Given the description of an element on the screen output the (x, y) to click on. 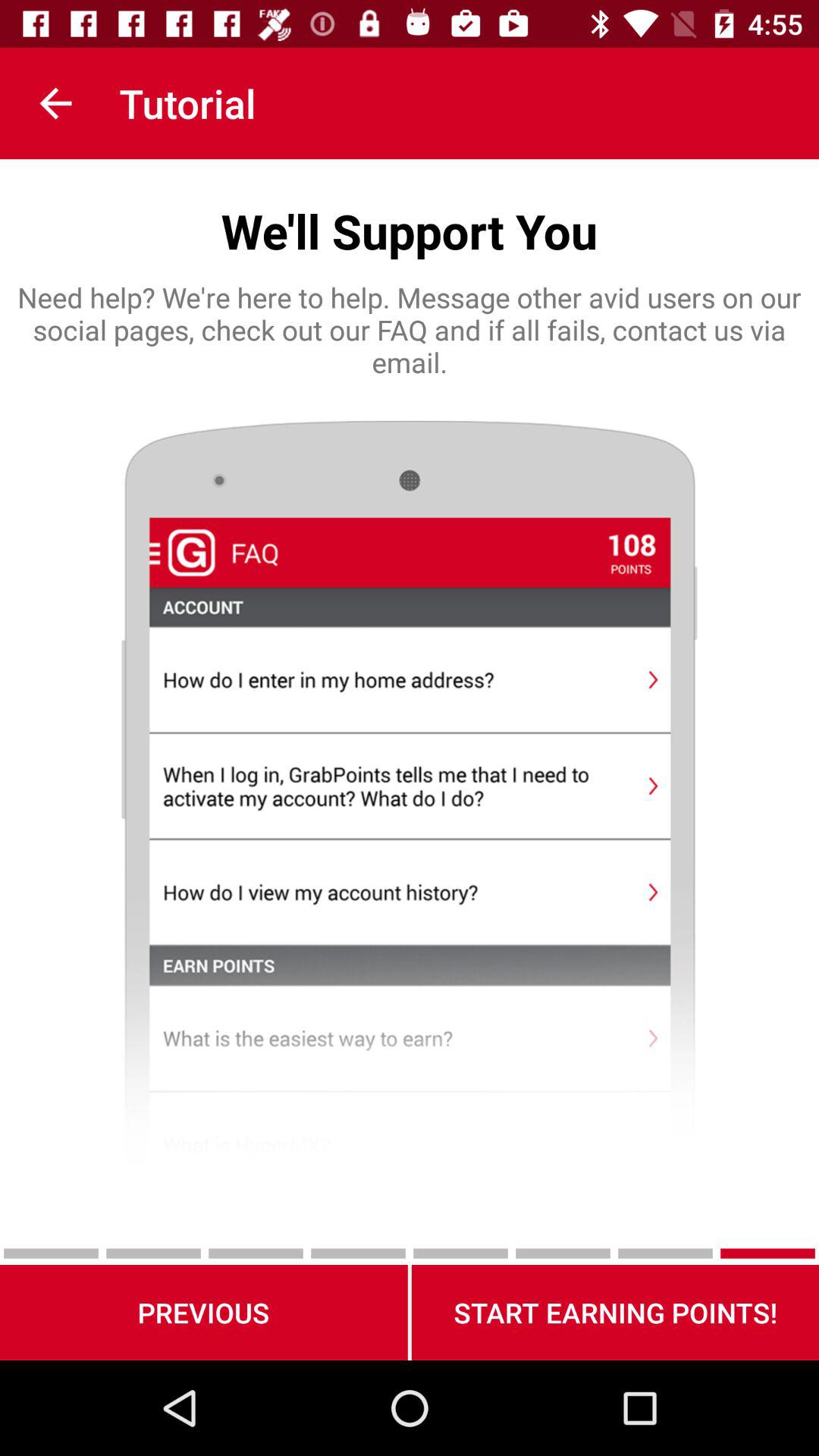
launch item at the bottom left corner (203, 1312)
